Given the description of an element on the screen output the (x, y) to click on. 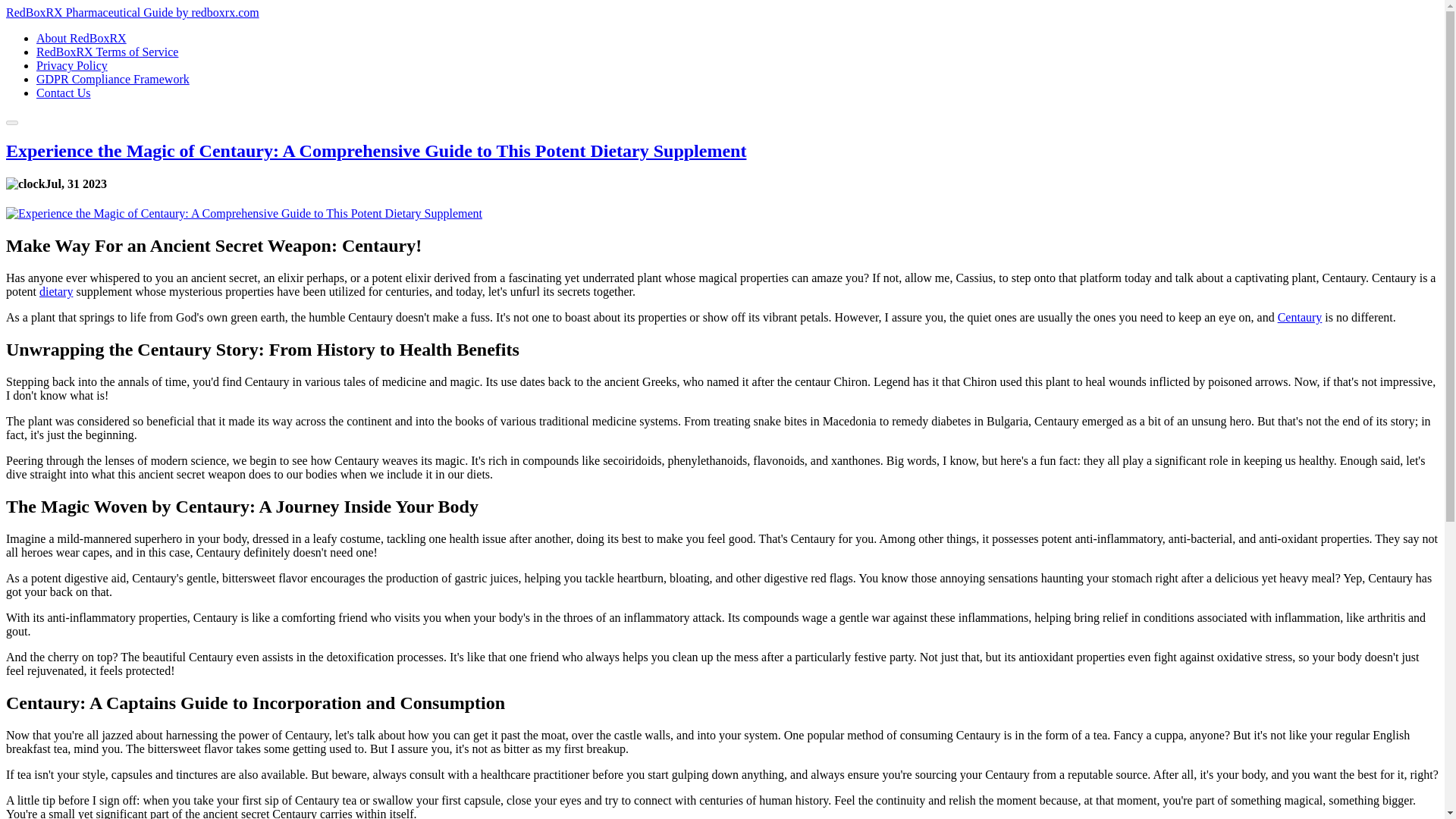
dietary (55, 291)
Centaury (1300, 317)
An Evidence-Based Approach to Vitamins and Minerals (1300, 317)
RedBoxRX Terms of Service (106, 51)
Contact Us (63, 92)
RedBoxRX Pharmaceutical Guide by redboxrx.com (132, 11)
About RedBoxRX (81, 38)
Dietary Interventions for Autism Spectrum Disorder (55, 291)
GDPR Compliance Framework (112, 78)
Privacy Policy (71, 65)
